Given the description of an element on the screen output the (x, y) to click on. 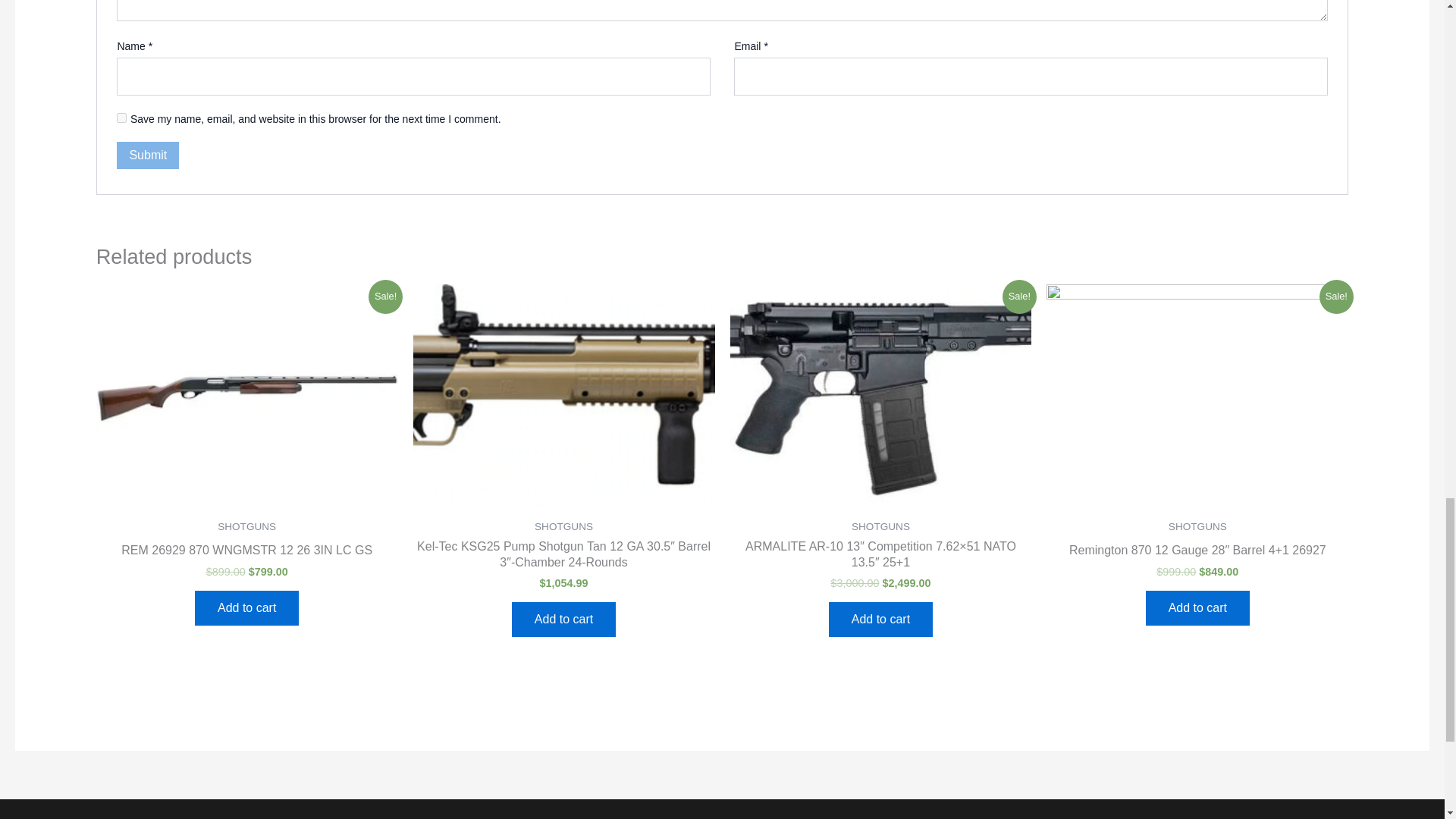
Submit (147, 154)
Submit (147, 154)
yes (121, 117)
